Given the description of an element on the screen output the (x, y) to click on. 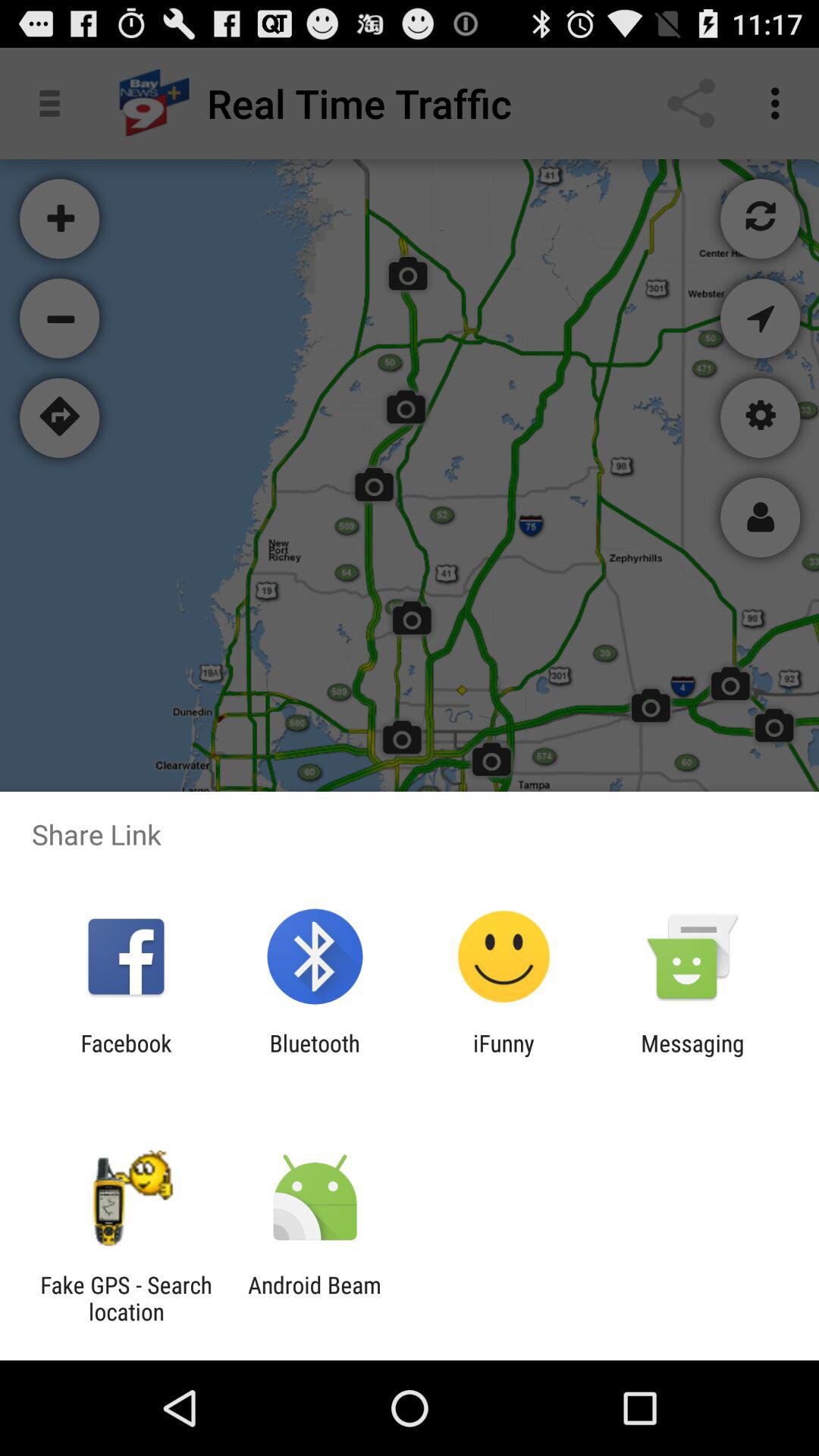
jump to messaging icon (692, 1056)
